Given the description of an element on the screen output the (x, y) to click on. 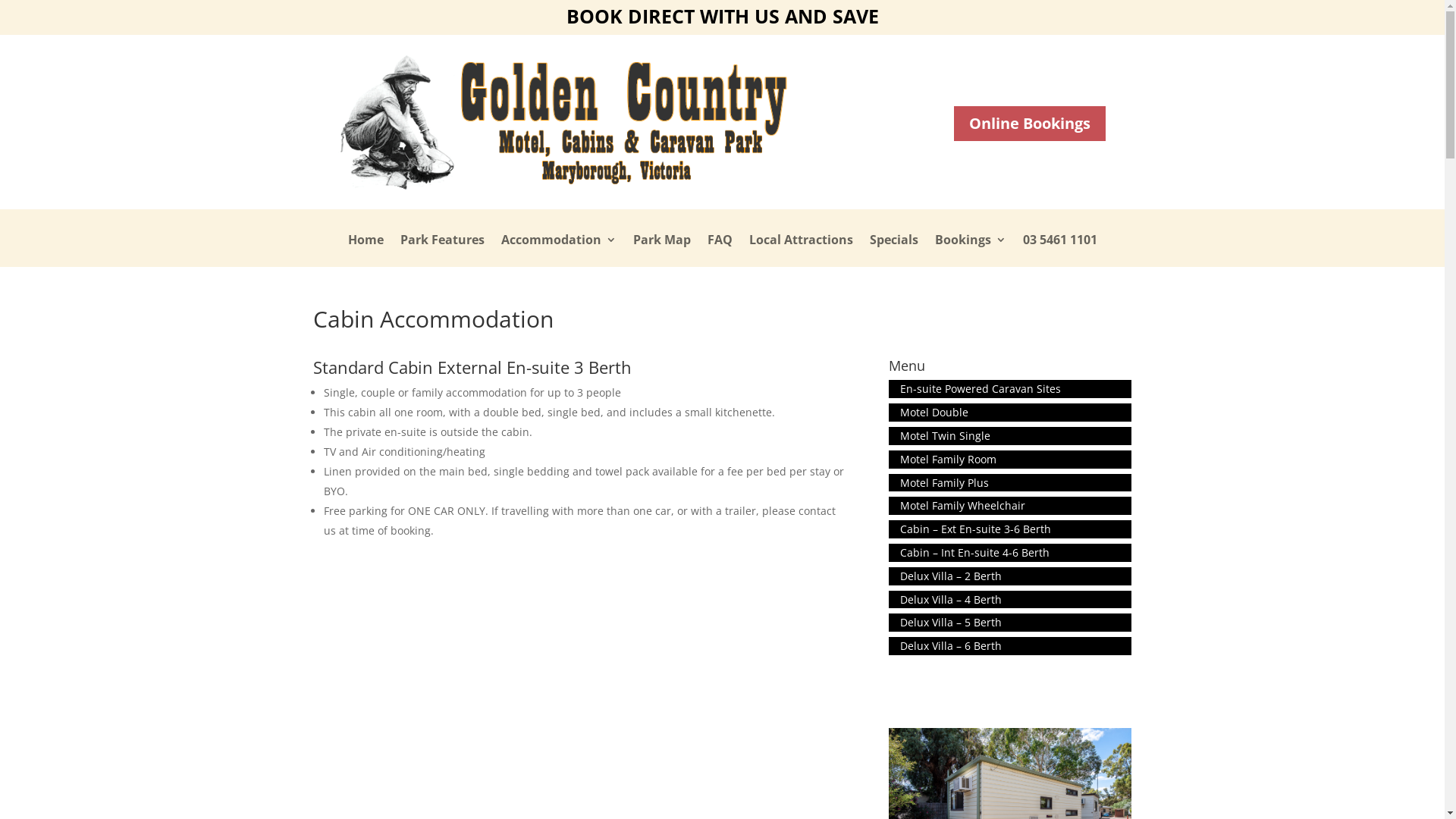
En-suite Powered Caravan Sites Element type: text (1009, 388)
Park Map Element type: text (661, 250)
FAQ Element type: text (718, 250)
Motel Twin Single Element type: text (1009, 435)
Bookings Element type: text (969, 250)
Specials Element type: text (893, 250)
Park Features Element type: text (442, 250)
Accommodation Element type: text (557, 250)
Motel Family Plus Element type: text (1009, 482)
Golden Country Motel and Caravan Park Element type: hover (561, 121)
Motel Double Element type: text (1009, 412)
Motel Family Wheelchair Element type: text (1009, 505)
Motel Family Room Element type: text (1009, 459)
YouTube video player Element type: hover (524, 693)
Local Attractions Element type: text (801, 250)
Home Element type: text (364, 250)
03 5461 1101 Element type: text (1059, 250)
Online Bookings Element type: text (1029, 123)
